Given the description of an element on the screen output the (x, y) to click on. 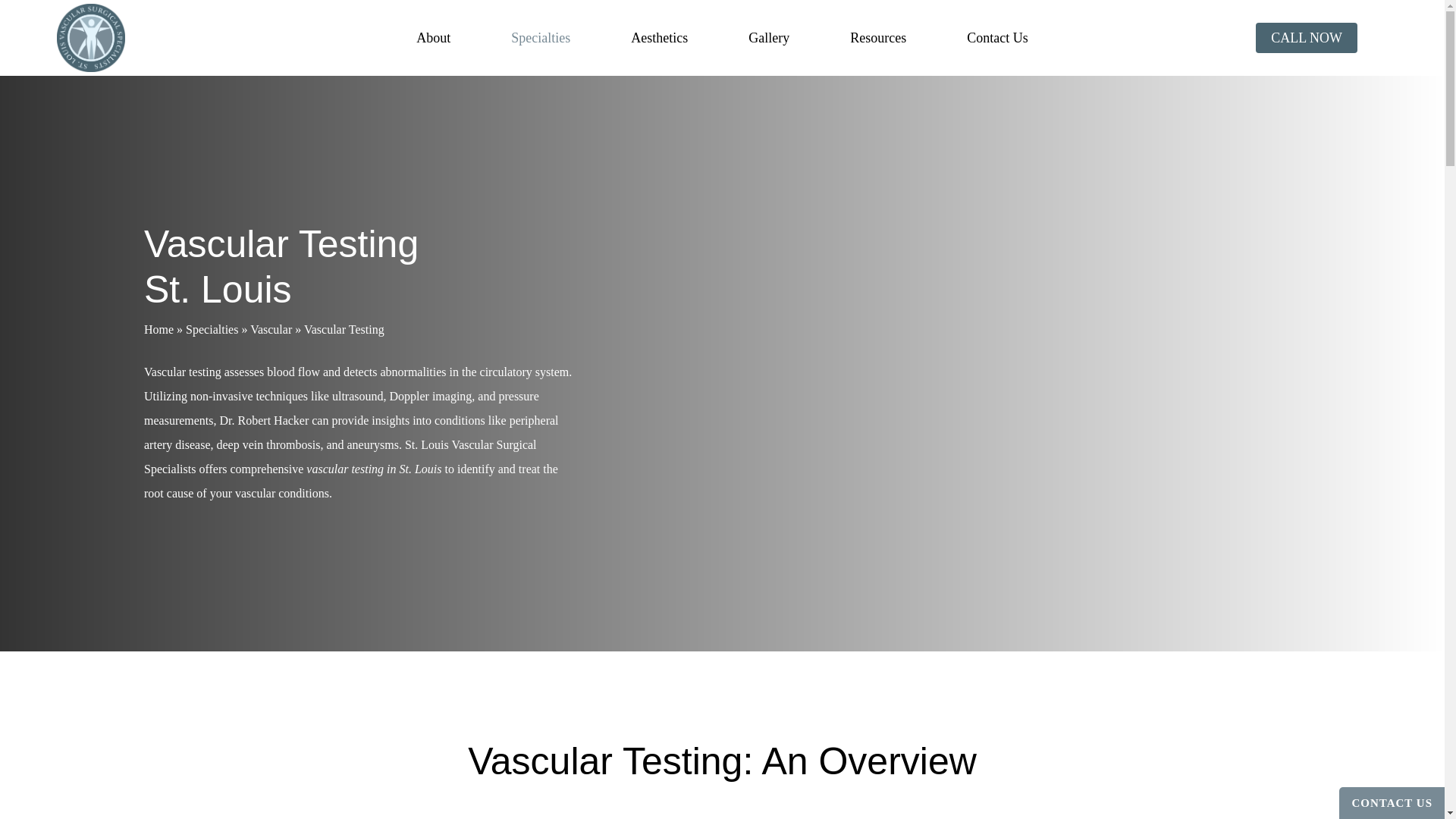
Aesthetics (658, 38)
Specialties (539, 38)
About (432, 38)
